Given the description of an element on the screen output the (x, y) to click on. 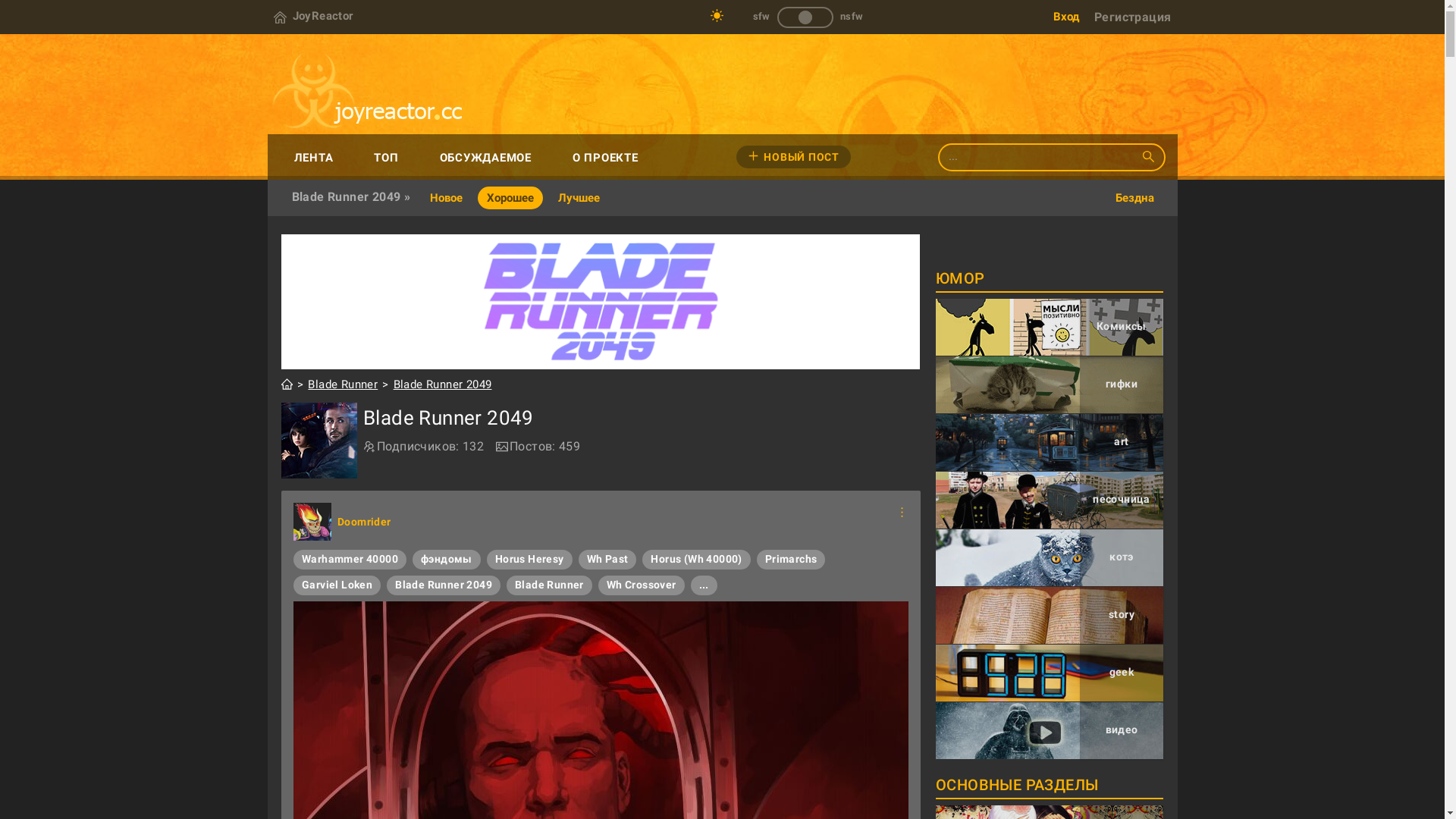
Horus (Wh 40000) Element type: text (695, 558)
art Element type: text (1049, 442)
Doomrider Element type: text (364, 521)
geek Element type: text (1049, 672)
Wh Past Element type: text (607, 558)
Blade Runner Element type: text (342, 384)
Warhammer 40000 Element type: text (349, 558)
Doomrider Element type: hover (312, 521)
Blade Runner Element type: text (548, 584)
Wh Crossover Element type: text (641, 584)
Garviel Loken Element type: text (336, 584)
Blade Runner 2049 Element type: text (442, 384)
Blade Runner 2049 Element type: hover (319, 440)
Blade Runner 2049 Element type: hover (600, 301)
story Element type: text (1049, 614)
Primarchs Element type: text (791, 558)
Blade Runner 2049 Element type: text (443, 584)
Horus Heresy Element type: text (529, 558)
